Given the description of an element on the screen output the (x, y) to click on. 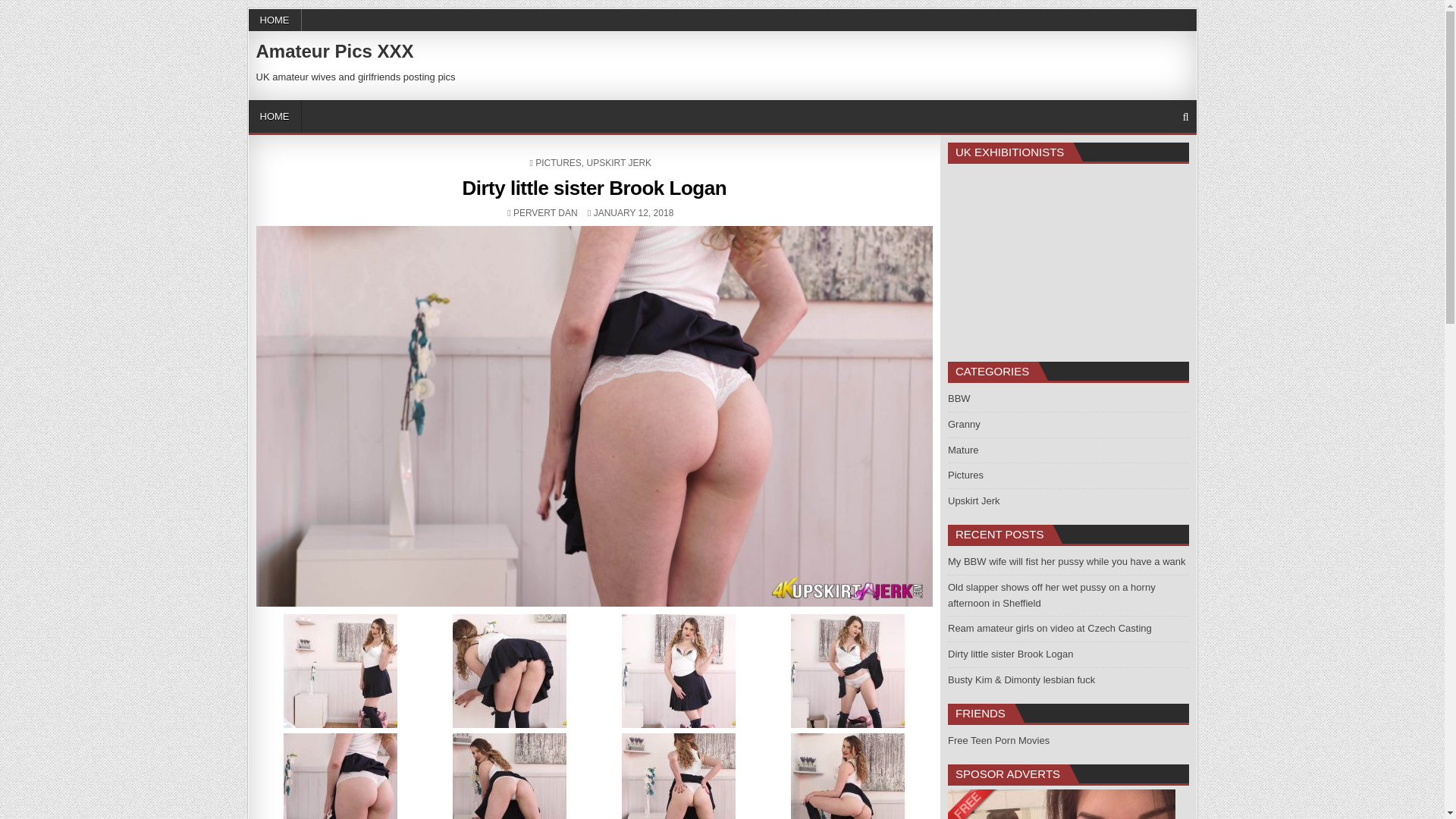
Dirty little sister Brook Logan (593, 187)
HOME (274, 20)
HOME (274, 115)
PICTURES (545, 213)
UPSKIRT JERK (557, 163)
Amateur Pics XXX (619, 163)
